Given the description of an element on the screen output the (x, y) to click on. 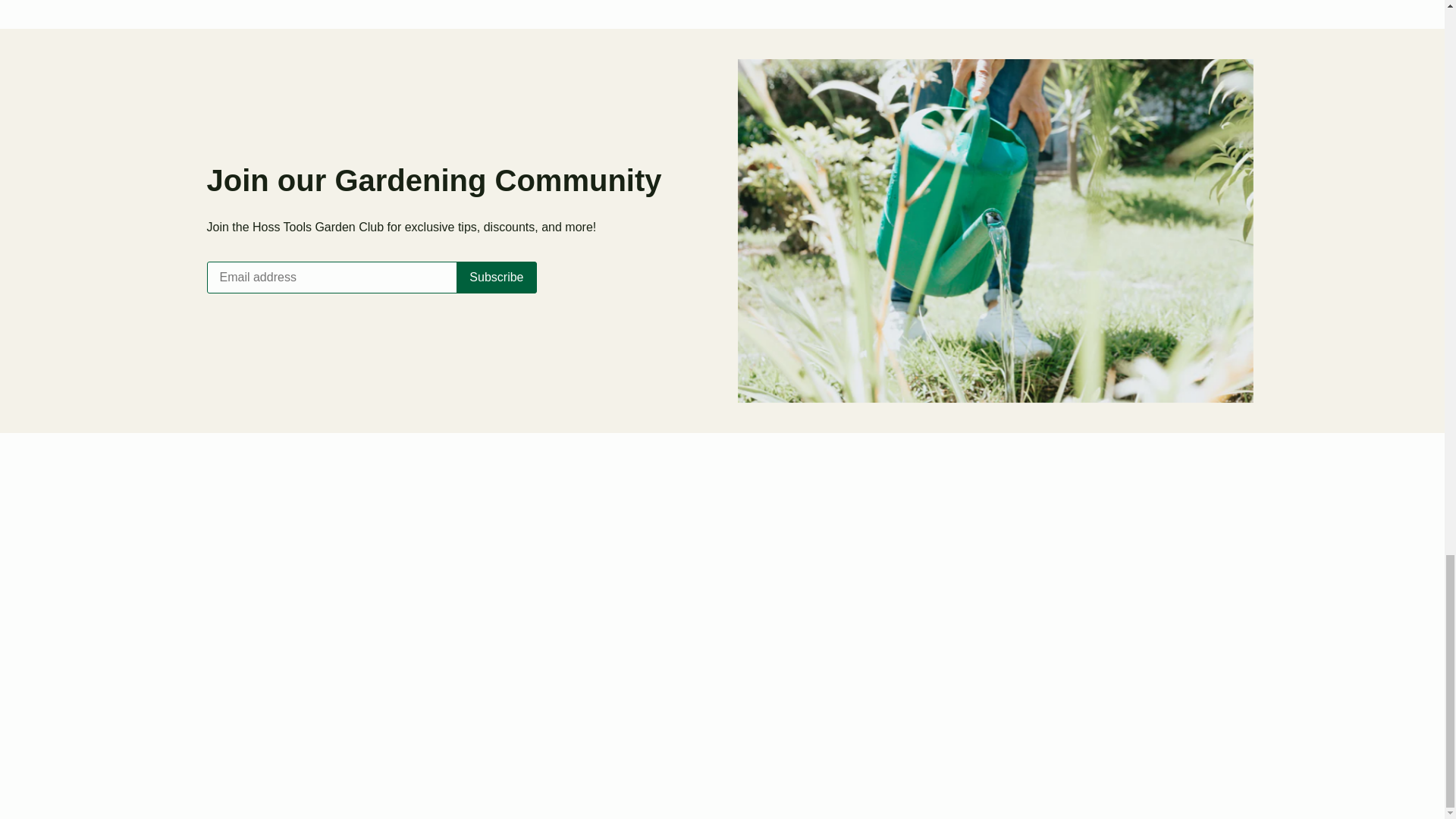
Subscribe (496, 277)
